Given the description of an element on the screen output the (x, y) to click on. 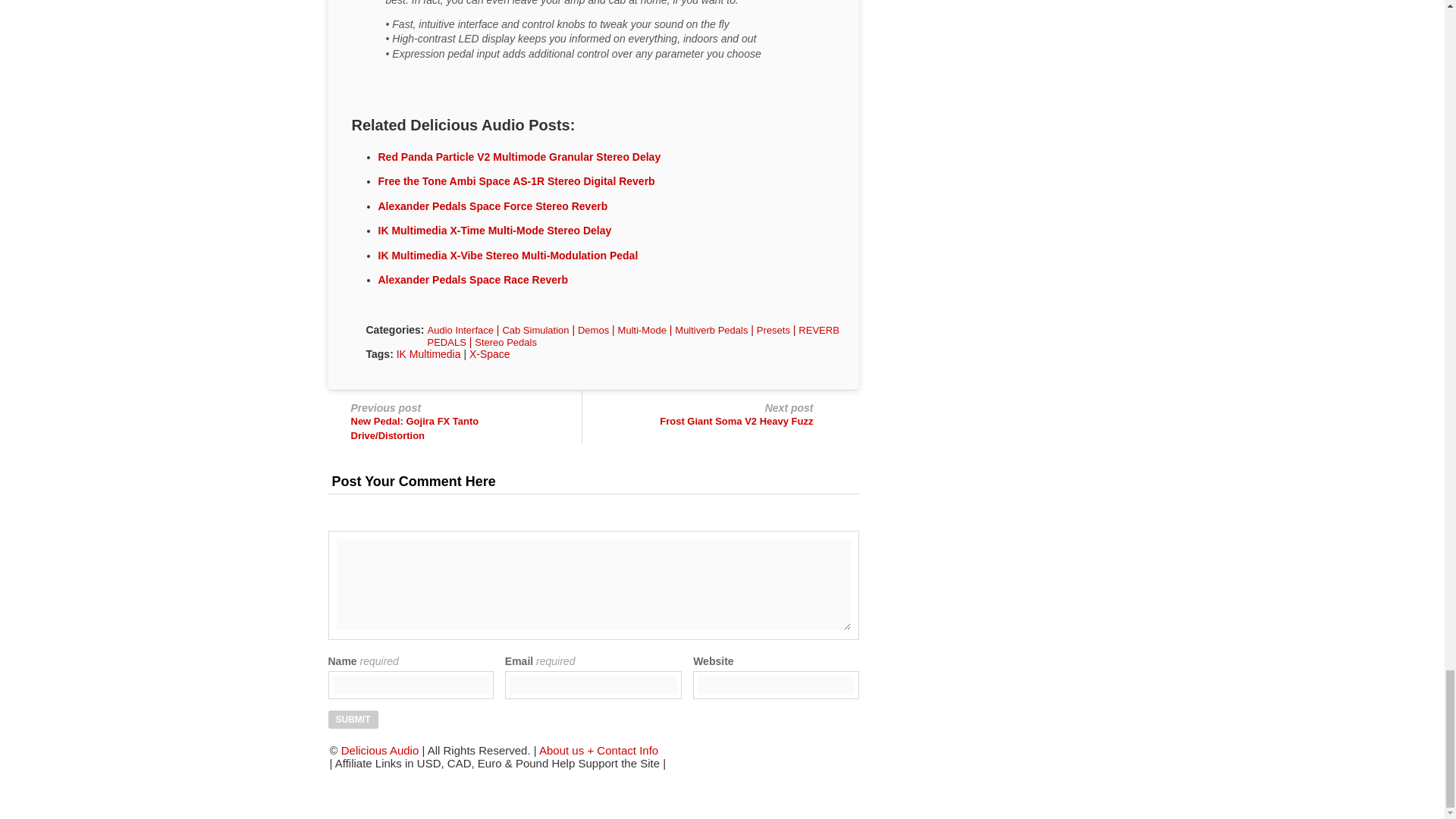
View all posts tagged IK Multimedia (428, 354)
View all posts tagged X-Space (489, 354)
